Given the description of an element on the screen output the (x, y) to click on. 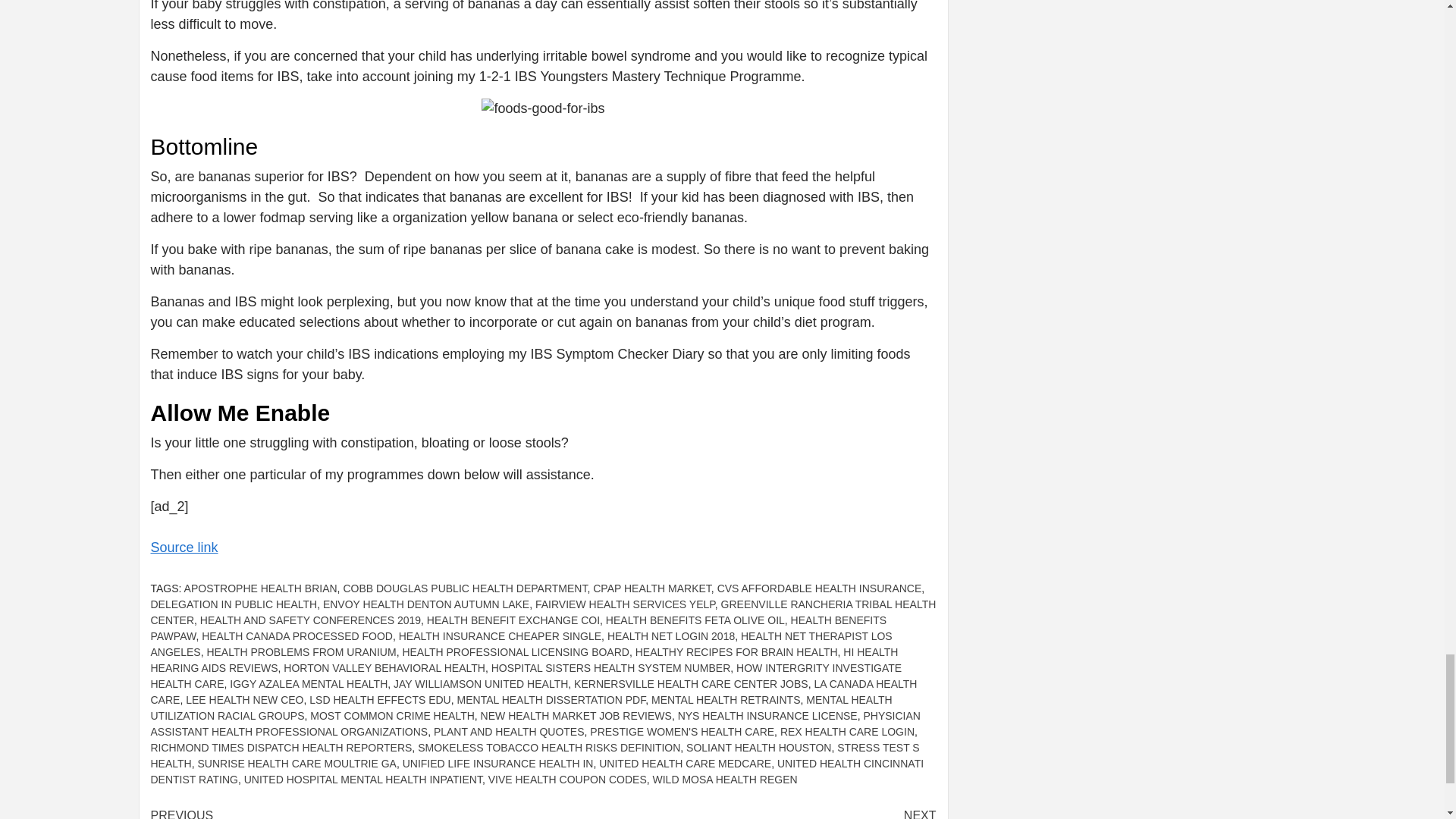
APOSTROPHE HEALTH BRIAN (260, 588)
DELEGATION IN PUBLIC HEALTH (233, 604)
CPAP HEALTH MARKET (651, 588)
ENVOY HEALTH DENTON AUTUMN LAKE (426, 604)
Source link (182, 547)
COBB DOUGLAS PUBLIC HEALTH DEPARTMENT (464, 588)
CVS AFFORDABLE HEALTH INSURANCE (819, 588)
